Given the description of an element on the screen output the (x, y) to click on. 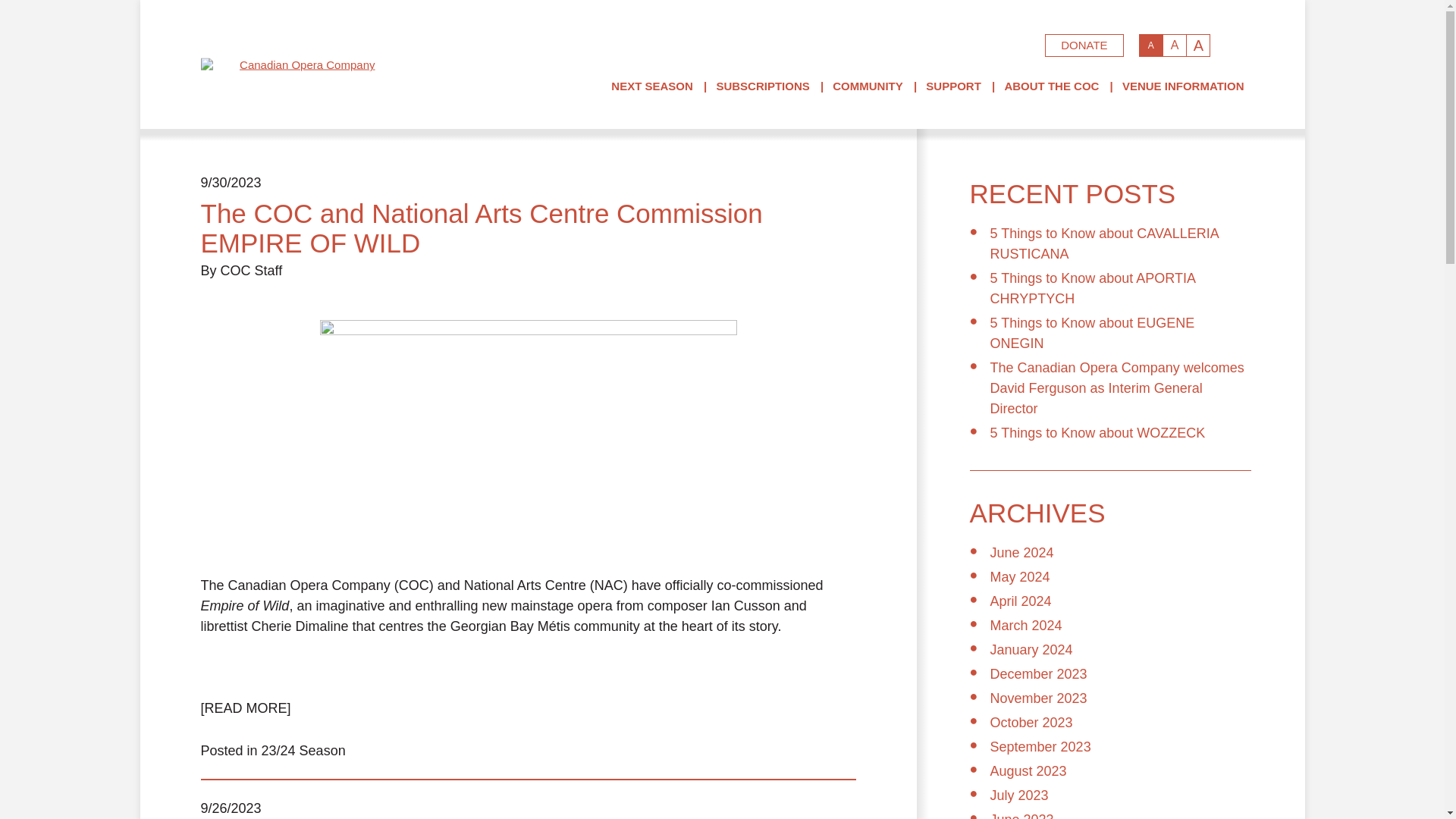
December 2023 (1038, 673)
DONATE (1083, 45)
January 2024 (1031, 649)
ABOUT THE COC (1051, 85)
SUPPORT (953, 85)
March 2024 (1026, 625)
Submit (1020, 45)
October 2023 (1031, 722)
April 2024 (1020, 601)
May 2024 (1019, 576)
NEXT SEASON (652, 85)
Default size (1150, 45)
November 2023 (1038, 698)
June 2024 (1022, 552)
SUBSCRIPTIONS (762, 85)
